Given the description of an element on the screen output the (x, y) to click on. 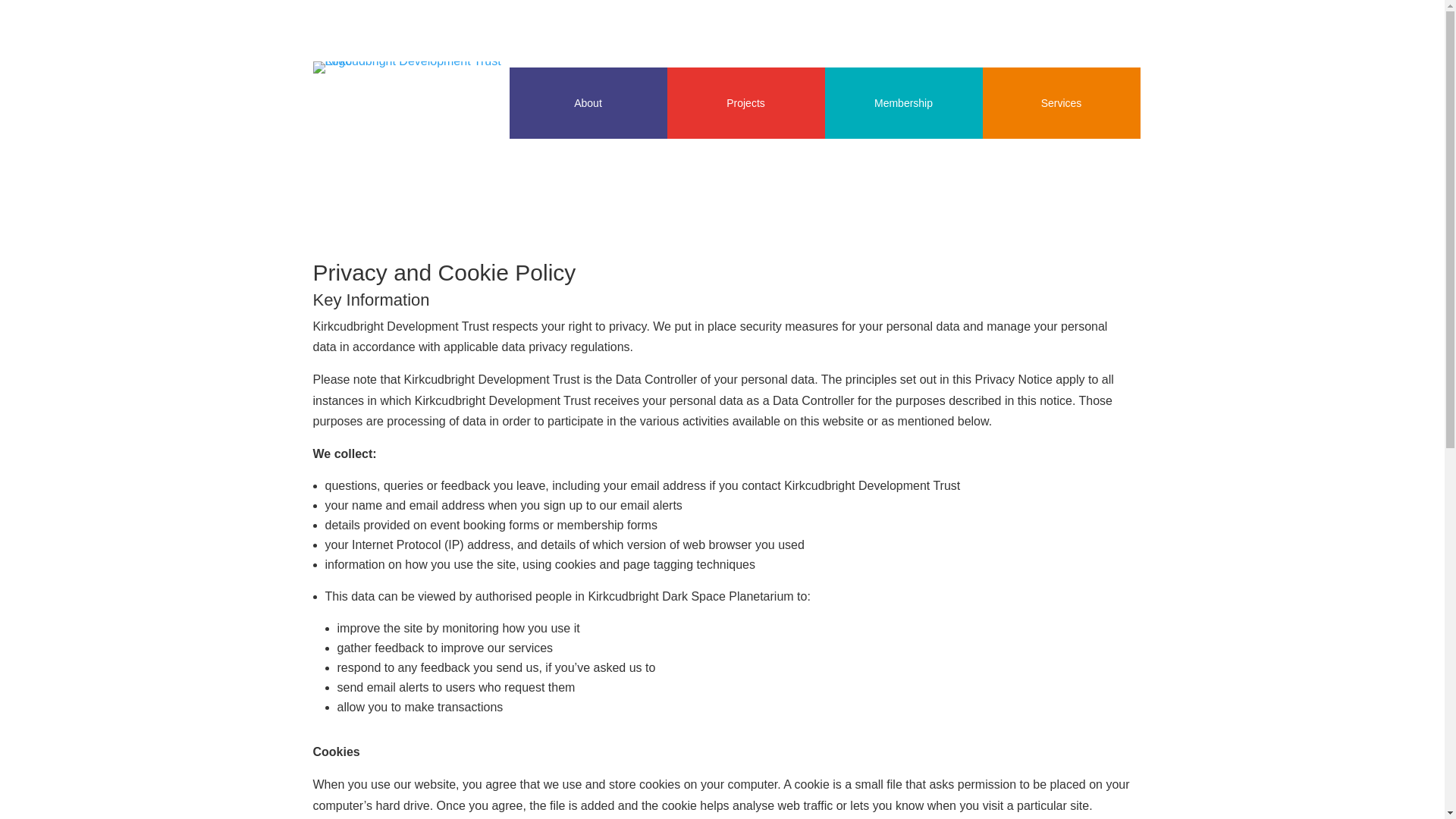
About (587, 102)
Projects (745, 102)
Kirkcudbright Development Trust (414, 67)
Services (1061, 102)
Membership (903, 102)
